Given the description of an element on the screen output the (x, y) to click on. 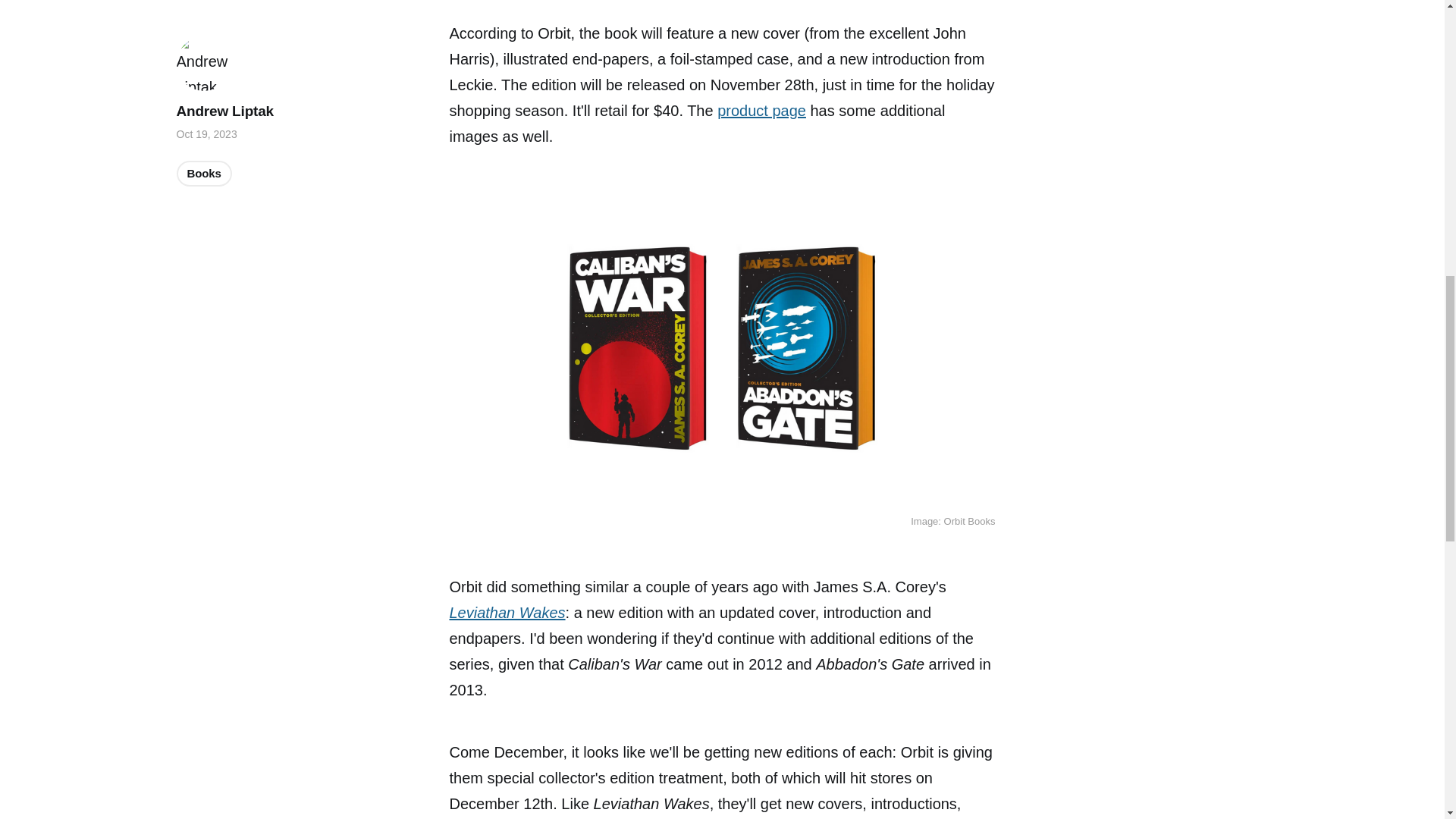
product page (761, 110)
Leviathan Wakes (506, 612)
